Given the description of an element on the screen output the (x, y) to click on. 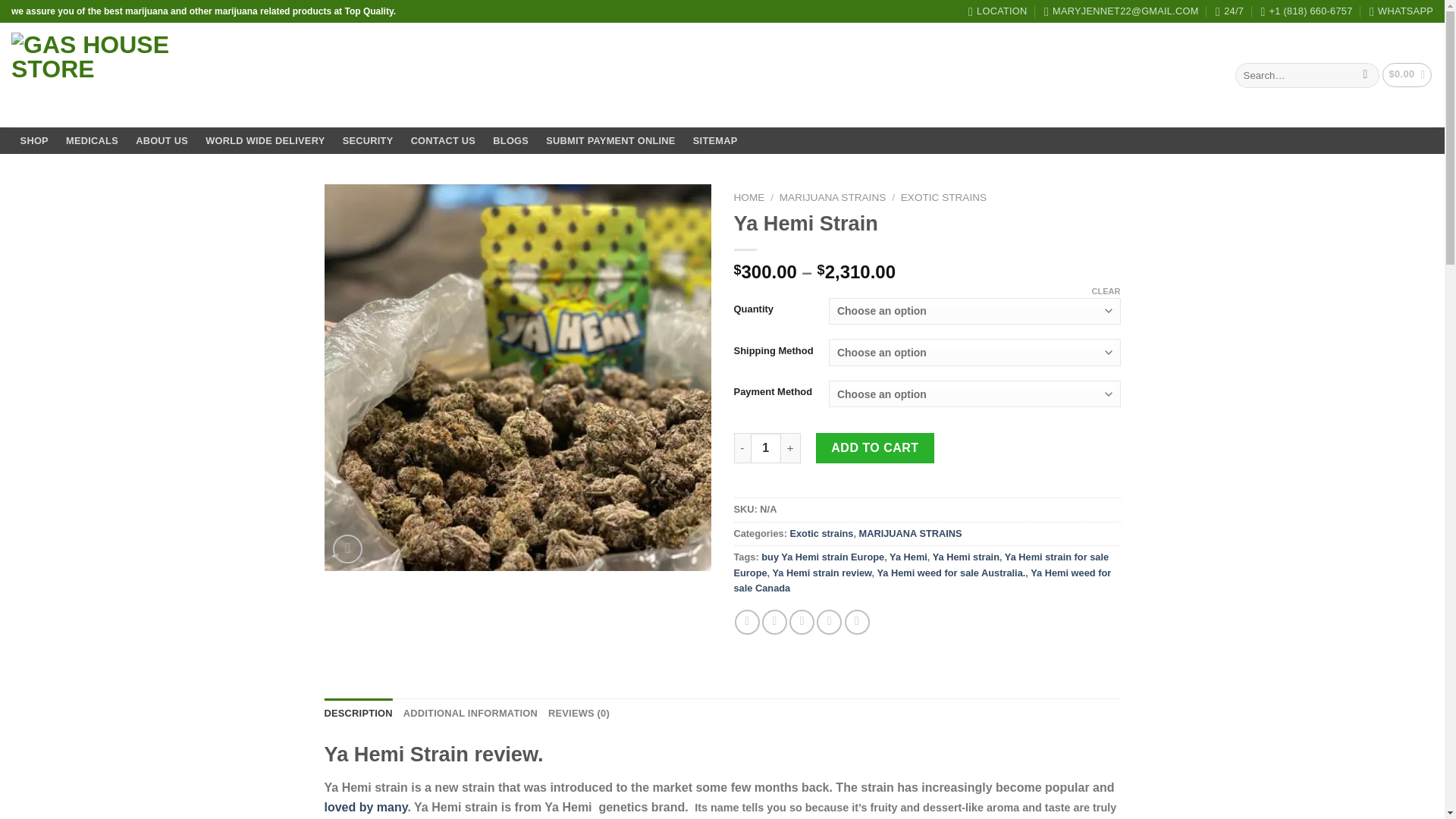
LOCATION (997, 11)
Ya Hemi strain for sale Europe (921, 564)
ADD TO CART (874, 448)
WORLD WIDE DELIVERY (264, 140)
Gas house store - Stay High Everyday (118, 75)
Exotic strains (821, 532)
Share on Facebook (747, 621)
WHATSAPP (1401, 11)
SECURITY (367, 140)
CLEAR (1106, 290)
Cart (1406, 74)
 1238 34th St,Bakersfield,CA 93301 (997, 11)
ABOUT US (162, 140)
EXOTIC STRAINS (944, 197)
SUBMIT PAYMENT ONLINE (610, 140)
